Given the description of an element on the screen output the (x, y) to click on. 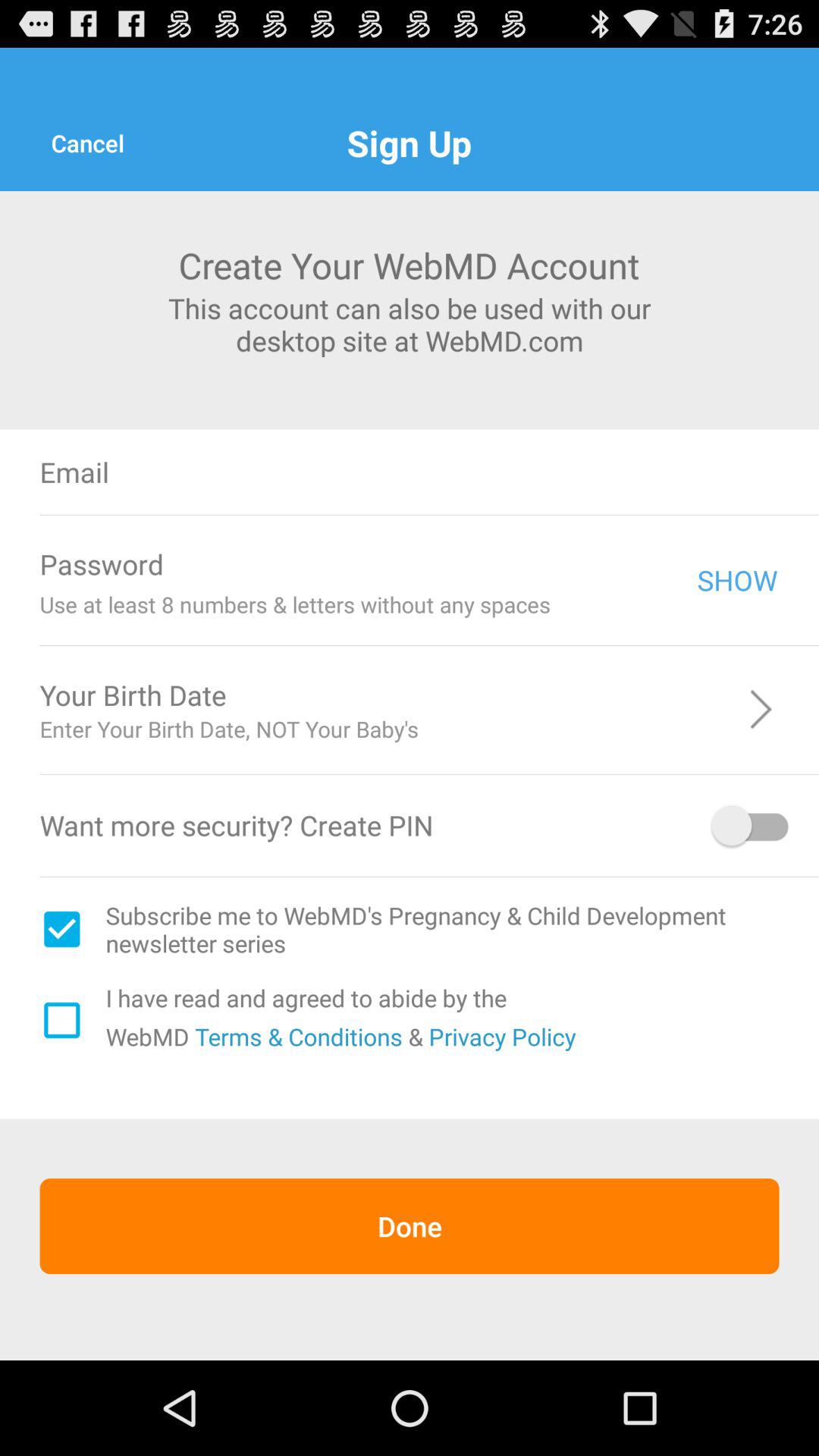
checkbox to agree to terms conditions (61, 1020)
